Given the description of an element on the screen output the (x, y) to click on. 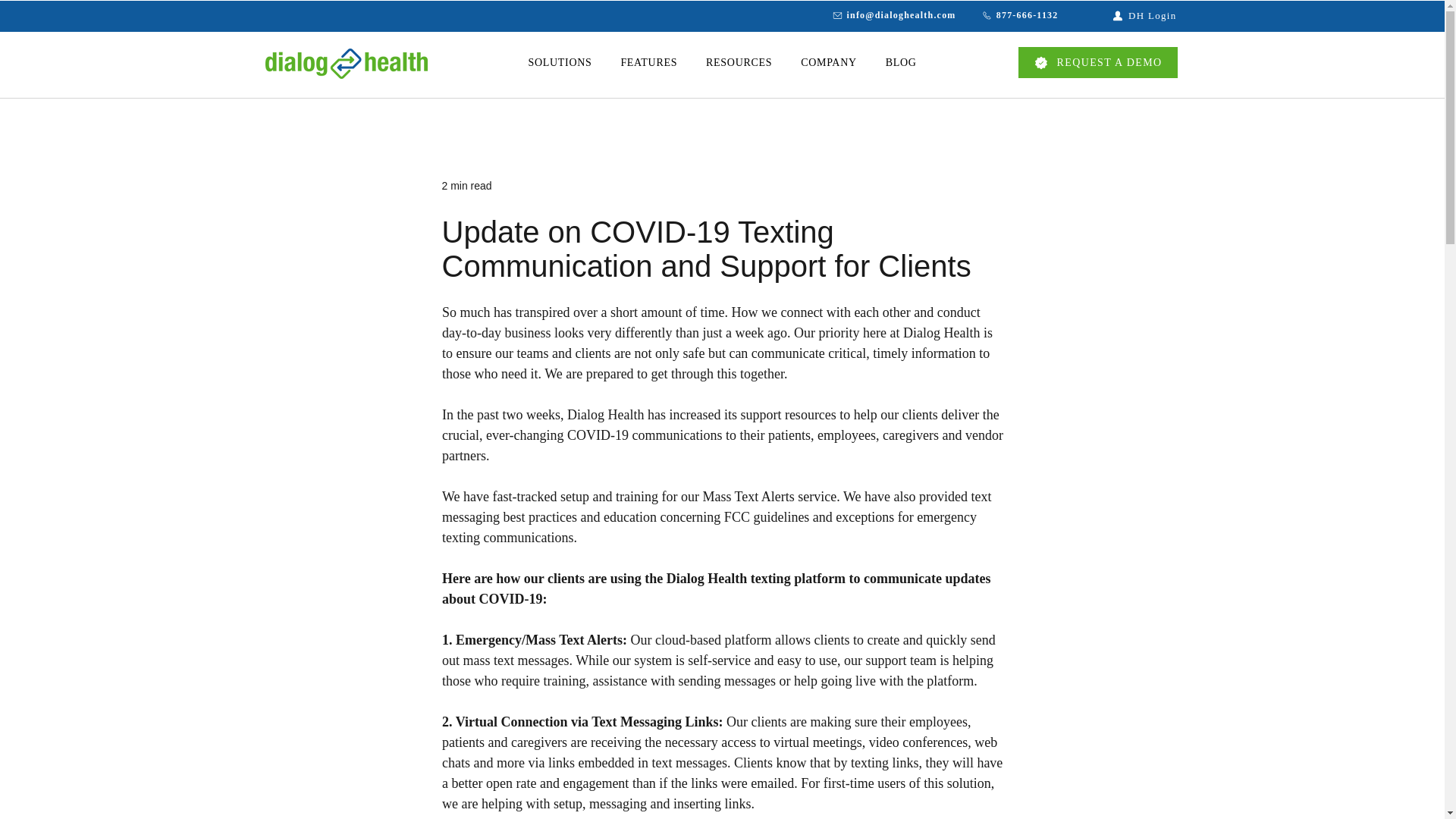
877-666-1132 (1013, 15)
2 min read (466, 184)
DH Login (1122, 15)
